Given the description of an element on the screen output the (x, y) to click on. 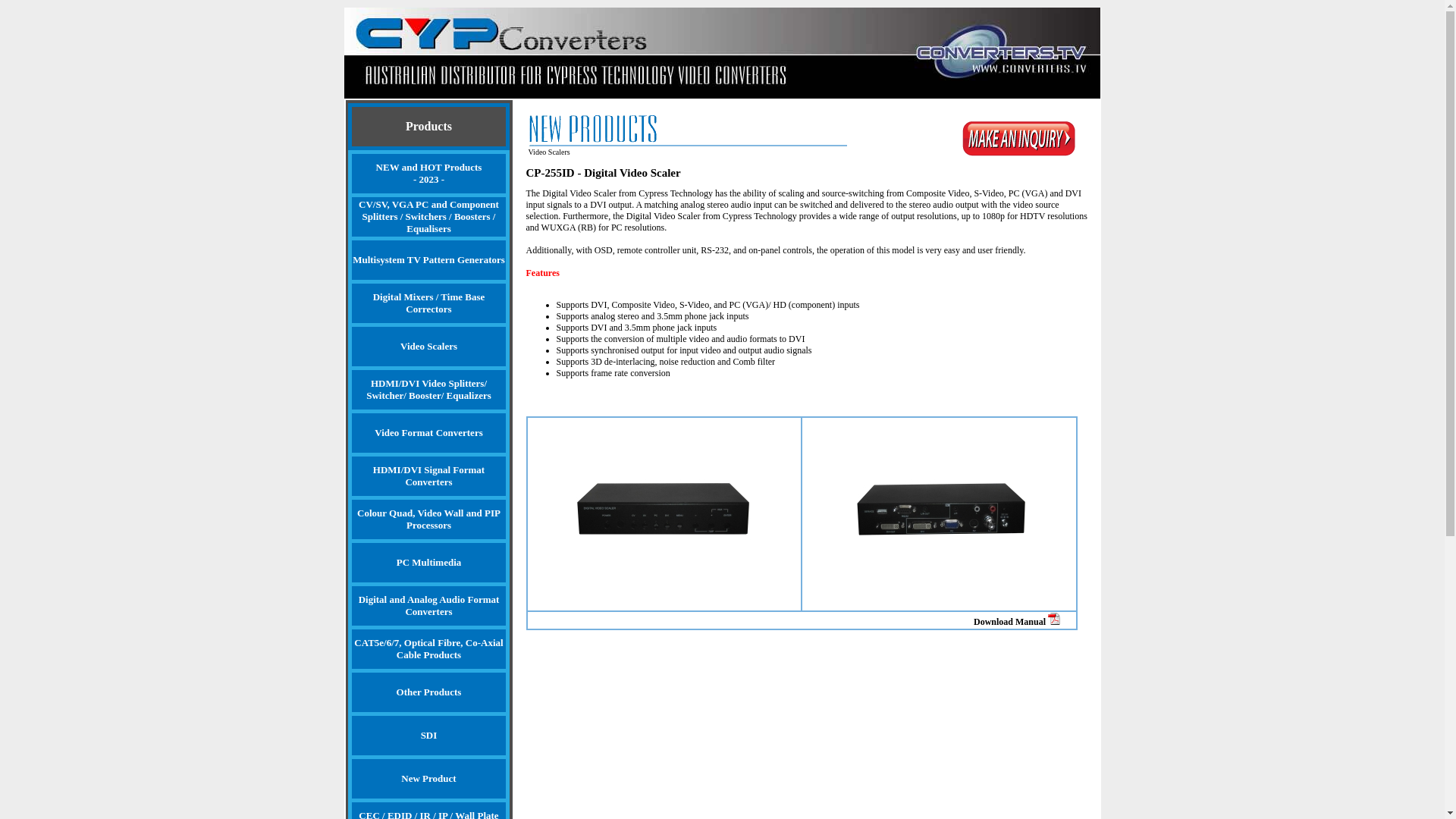
PC Multimedia Element type: text (428, 562)
Digital Mixers / Time Base Correctors Element type: text (429, 302)
SDI Element type: text (428, 734)
Digital Video Scaler - Back View Element type: hover (939, 513)
New Product Element type: text (428, 778)
Video Format Converters Element type: text (428, 432)
NEW and HOT Products
- 2023 - Element type: text (428, 173)
Make An Inquiry Element type: hover (1018, 138)
Digital Mixers / Time Base Correctors Element type: text (428, 303)
Other Products Element type: text (428, 692)
PC Multimedia Element type: text (428, 561)
Colour Quad, Video Wall and PIP Processors Element type: text (428, 519)
Other Products Element type: text (428, 691)
Digital and Analog Audio Format Converters Element type: text (428, 605)
CAT5e/6/7, Optical Fibre, Co-Axial Cable Products Element type: text (428, 648)
Multisystem TV Pattern Generators Element type: text (428, 259)
SDI Element type: text (428, 735)
Colour Quad, Video Wall and PIP Processors Element type: text (428, 518)
Video Scalers Element type: text (428, 345)
New Products Element type: hover (686, 130)
Video Format Converters Element type: text (428, 432)
CAT5e/6/7, Optical Fibre, Co-Axial Cable Products Element type: text (428, 648)
HDMI/DVI Signal Format Converters Element type: text (428, 475)
Download Manual Element type: text (1024, 621)
Download PDF Manual Element type: hover (1054, 618)
Digital Video Scaler - Front View Element type: hover (664, 513)
Digital and Analog Audio Format Converters Element type: text (428, 605)
HDMI/DVI Video Splitters/ Switcher/ Booster/ Equalizers Element type: text (428, 389)
HDMI/DVI Signal Format Converters Element type: text (428, 475)
Multisystem TV Pattern Generators Element type: text (428, 259)
New Product Element type: text (428, 778)
NEW and HOT Products
- 2023 - Element type: text (429, 173)
Video Scalers Element type: text (428, 346)
HDMI/DVI Video Splitters/ Switcher/ Booster/ Equalizers Element type: text (428, 389)
